Given the description of an element on the screen output the (x, y) to click on. 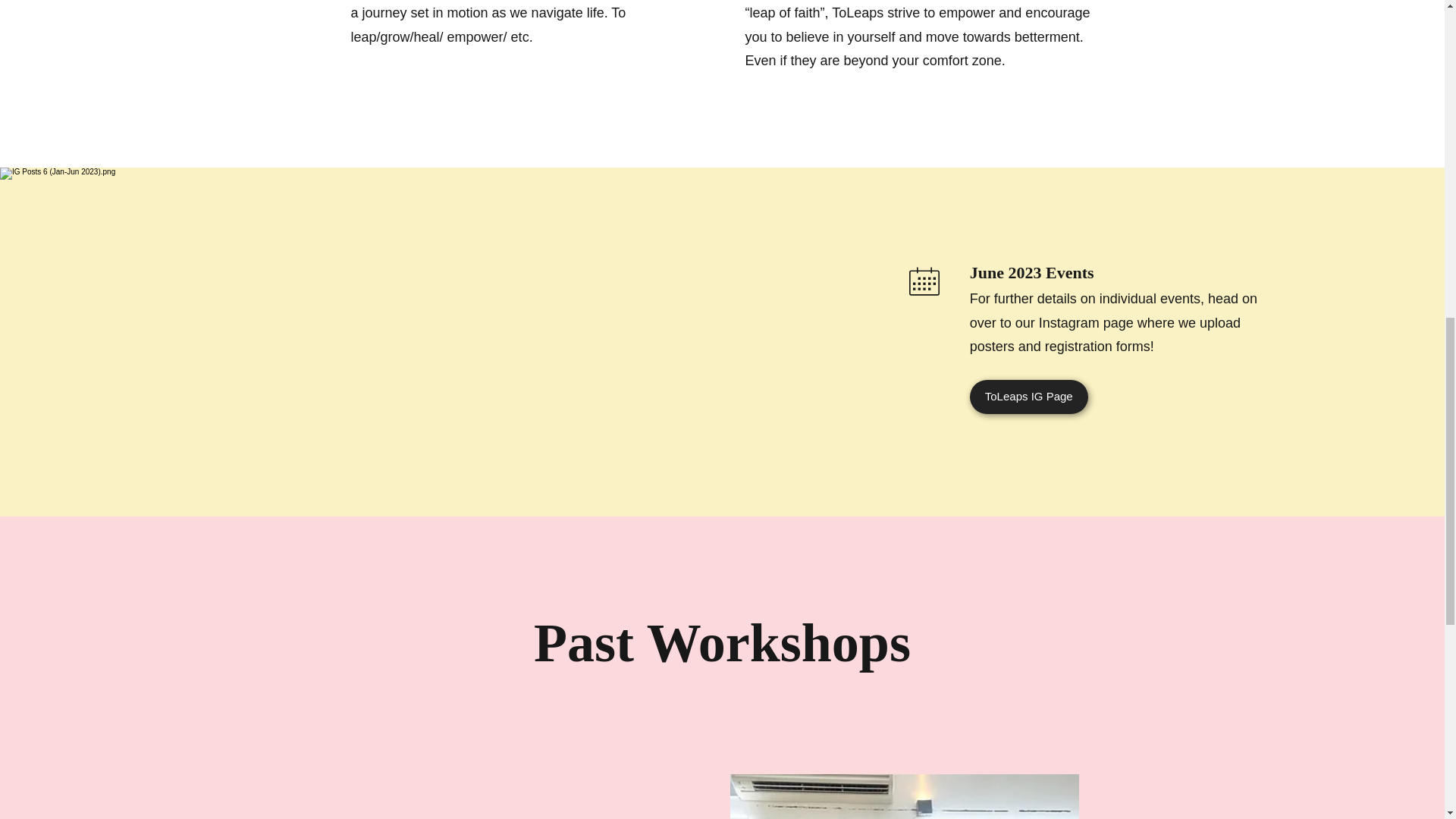
ToLeaps IG Page (1028, 397)
